Given the description of an element on the screen output the (x, y) to click on. 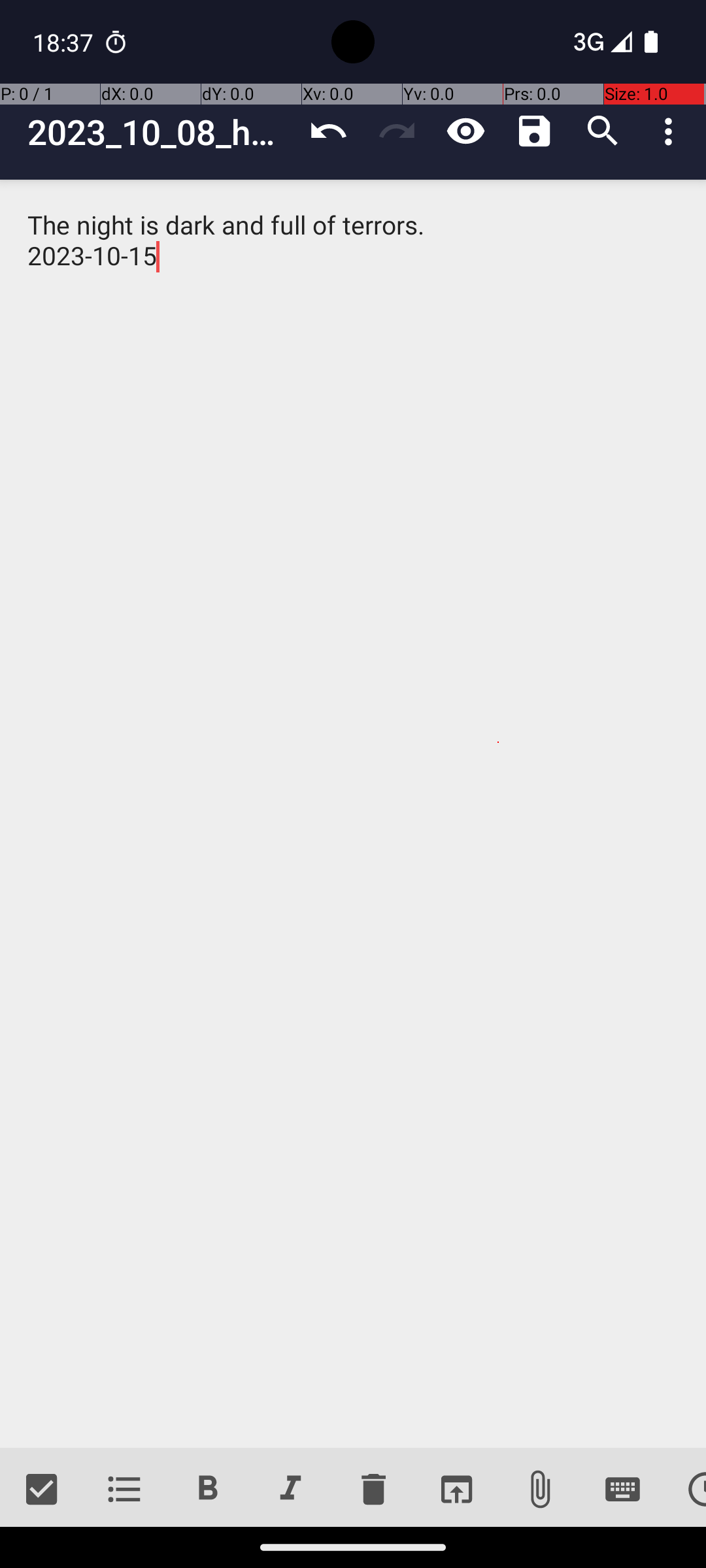
2023_10_08_hot_zebra Element type: android.widget.TextView (160, 131)
The night is dark and full of terrors.
2023-10-15 Element type: android.widget.EditText (353, 813)
18:37 Element type: android.widget.TextView (64, 41)
